Given the description of an element on the screen output the (x, y) to click on. 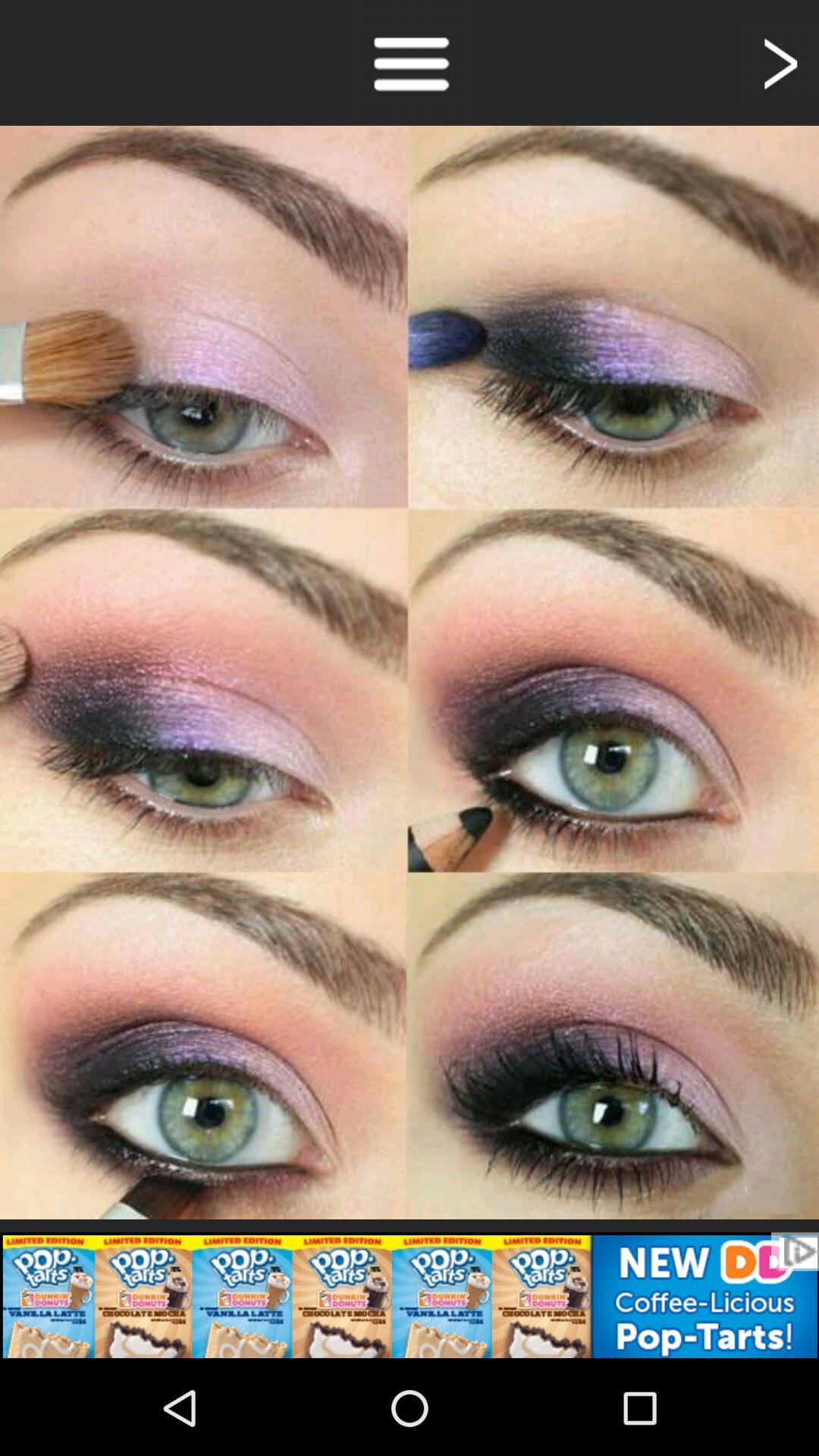
go to previous (778, 62)
